Given the description of an element on the screen output the (x, y) to click on. 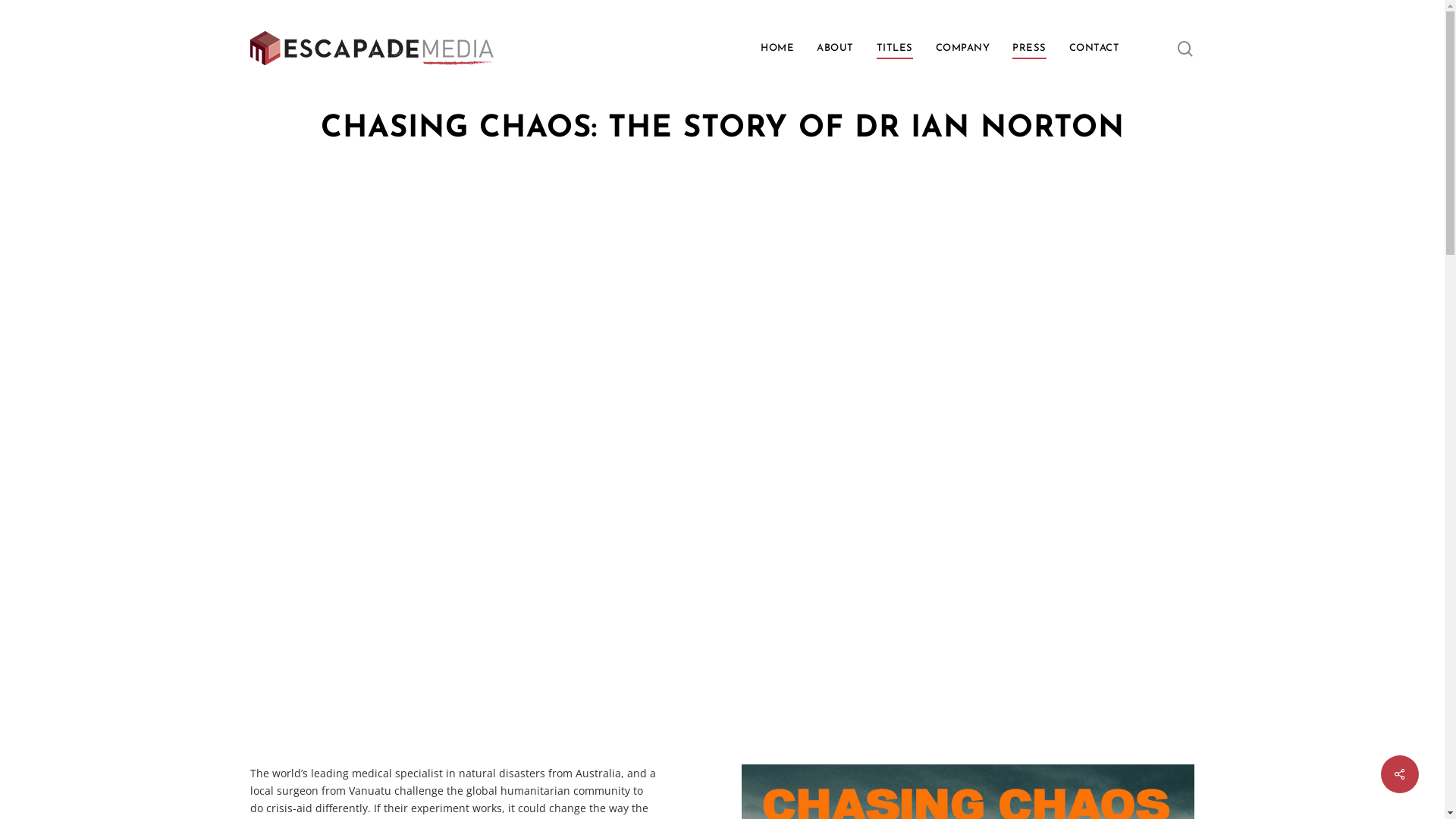
HOME Element type: text (776, 48)
ABOUT Element type: text (834, 48)
COMPANY Element type: text (962, 48)
PRESS Element type: text (1029, 48)
CONTACT Element type: text (1094, 48)
TITLES Element type: text (894, 48)
search Element type: text (1185, 48)
